Given the description of an element on the screen output the (x, y) to click on. 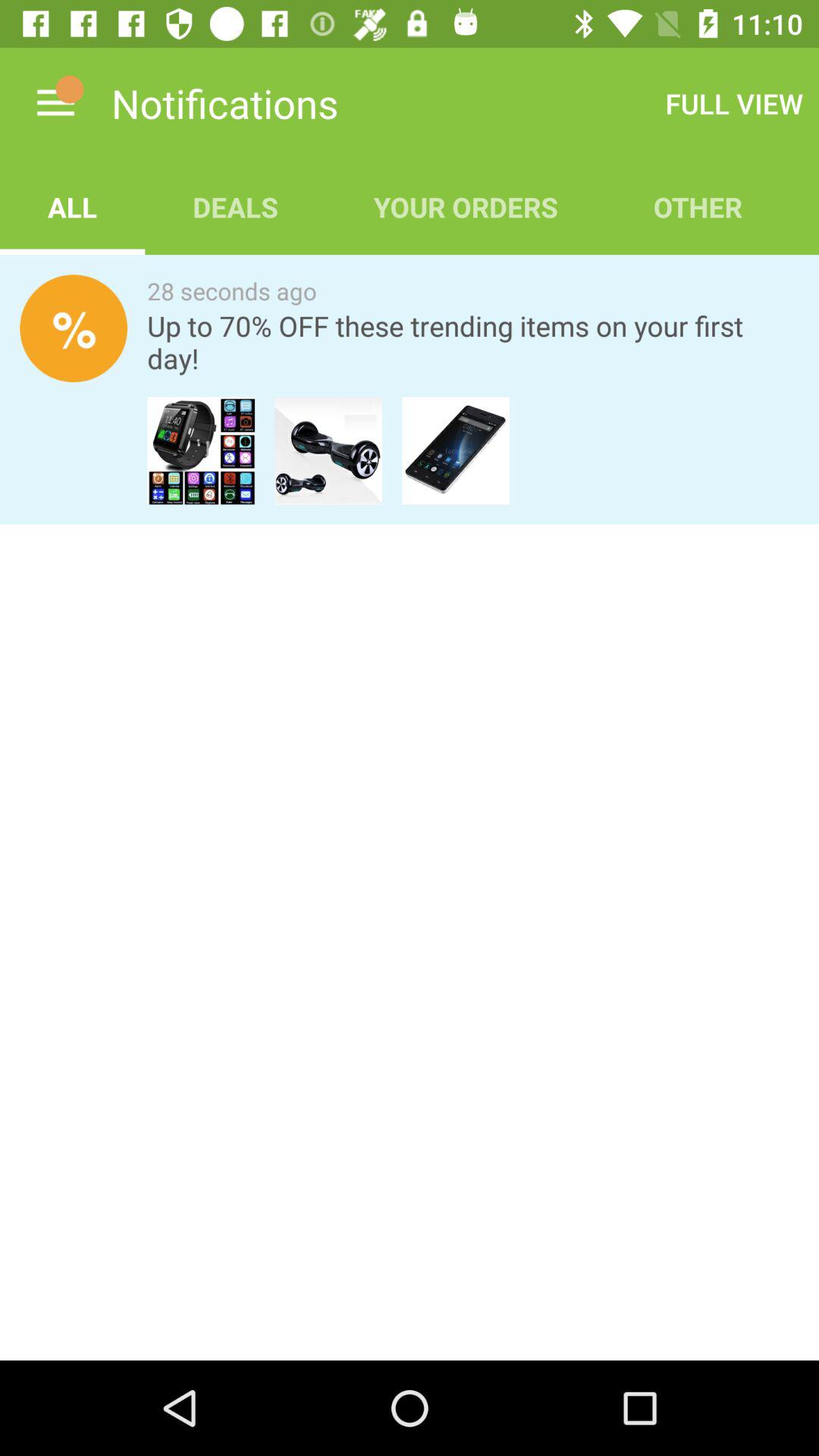
choose the item to the right of the all icon (235, 206)
